Given the description of an element on the screen output the (x, y) to click on. 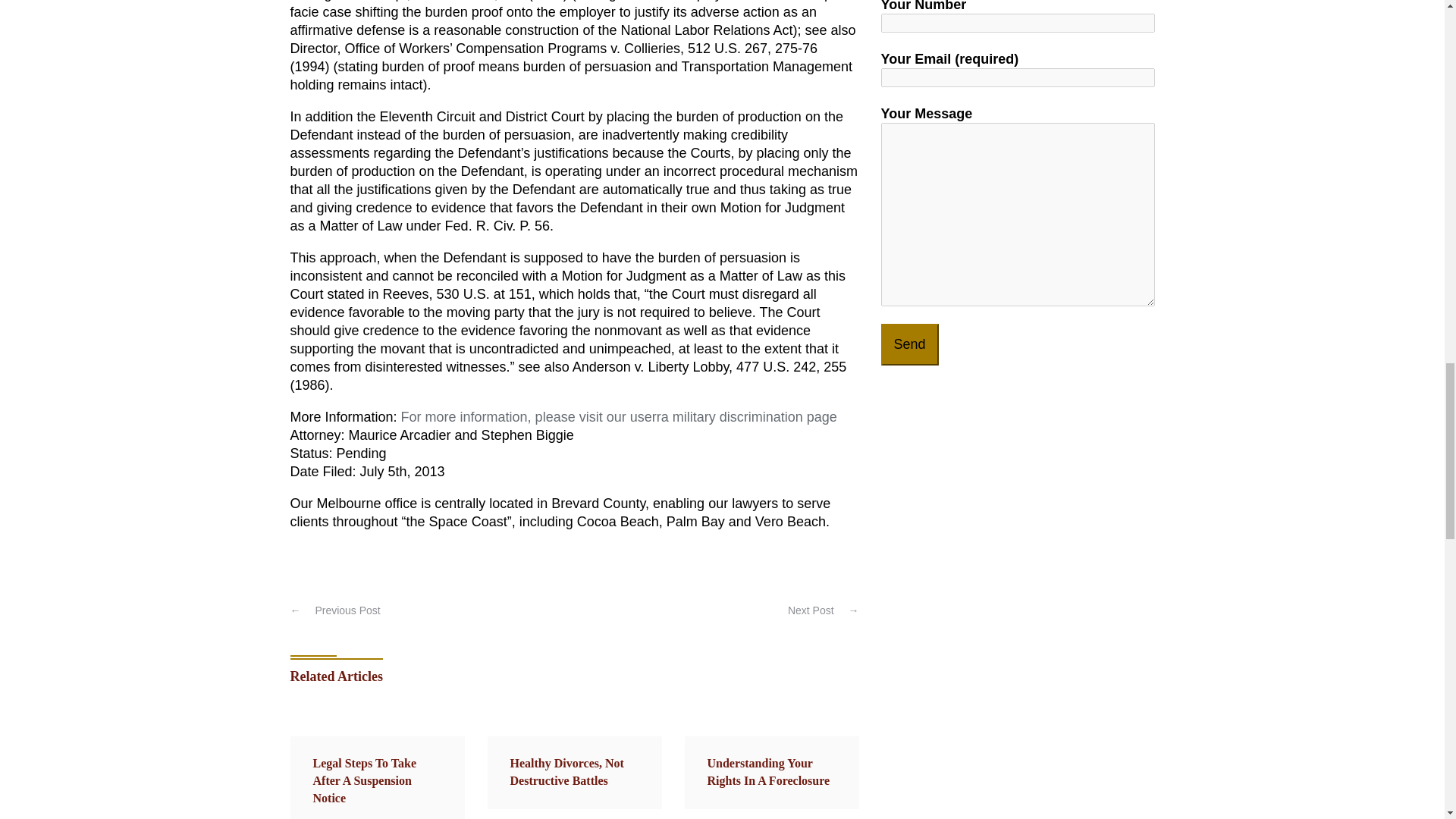
Send (909, 344)
